Given the description of an element on the screen output the (x, y) to click on. 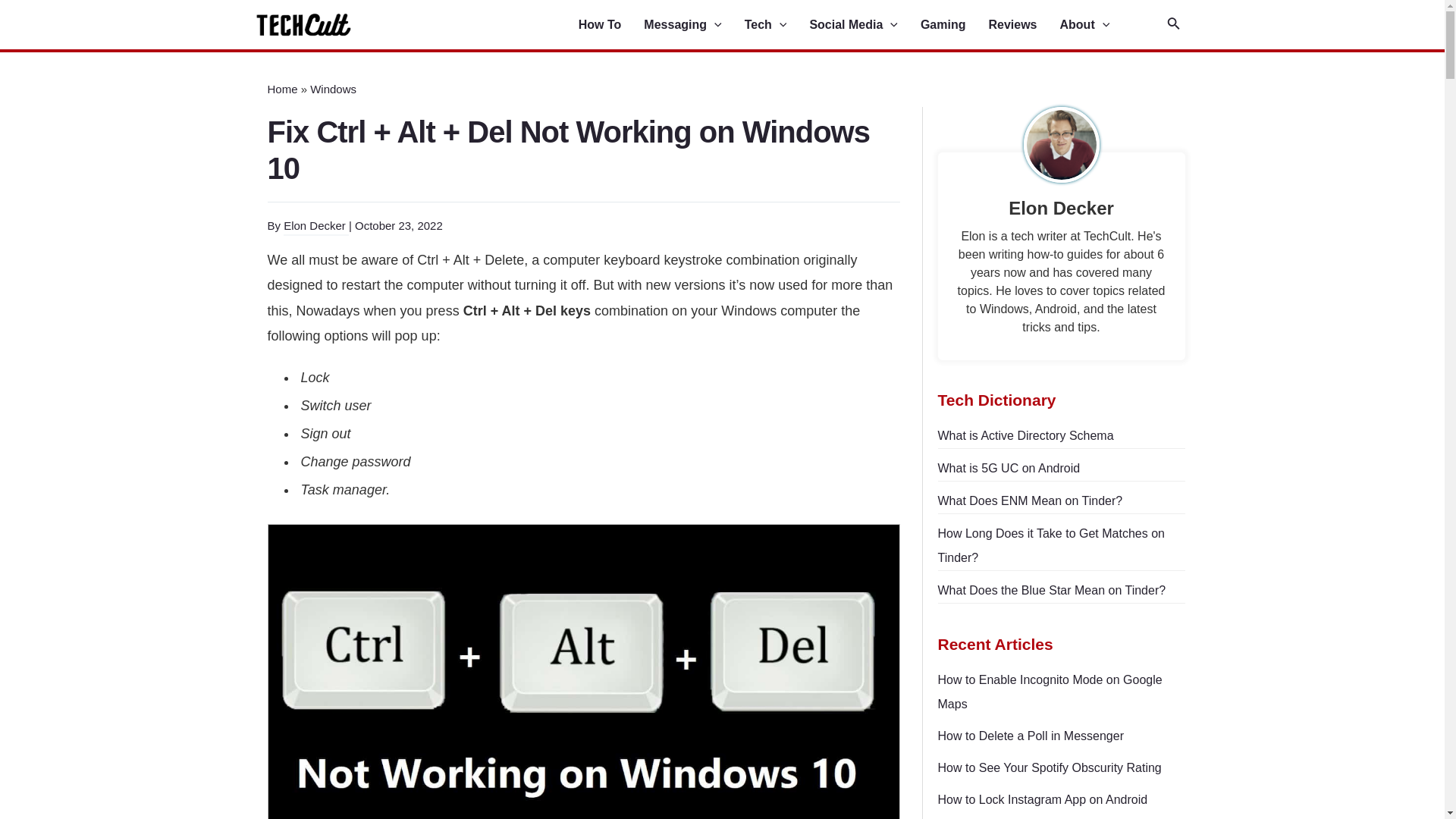
Messaging (693, 25)
View all posts by Elon Decker (316, 226)
Tech (776, 25)
Social Media (864, 25)
About (1095, 25)
Reviews (1023, 25)
Home (281, 88)
How To (611, 25)
Gaming (954, 25)
